Given the description of an element on the screen output the (x, y) to click on. 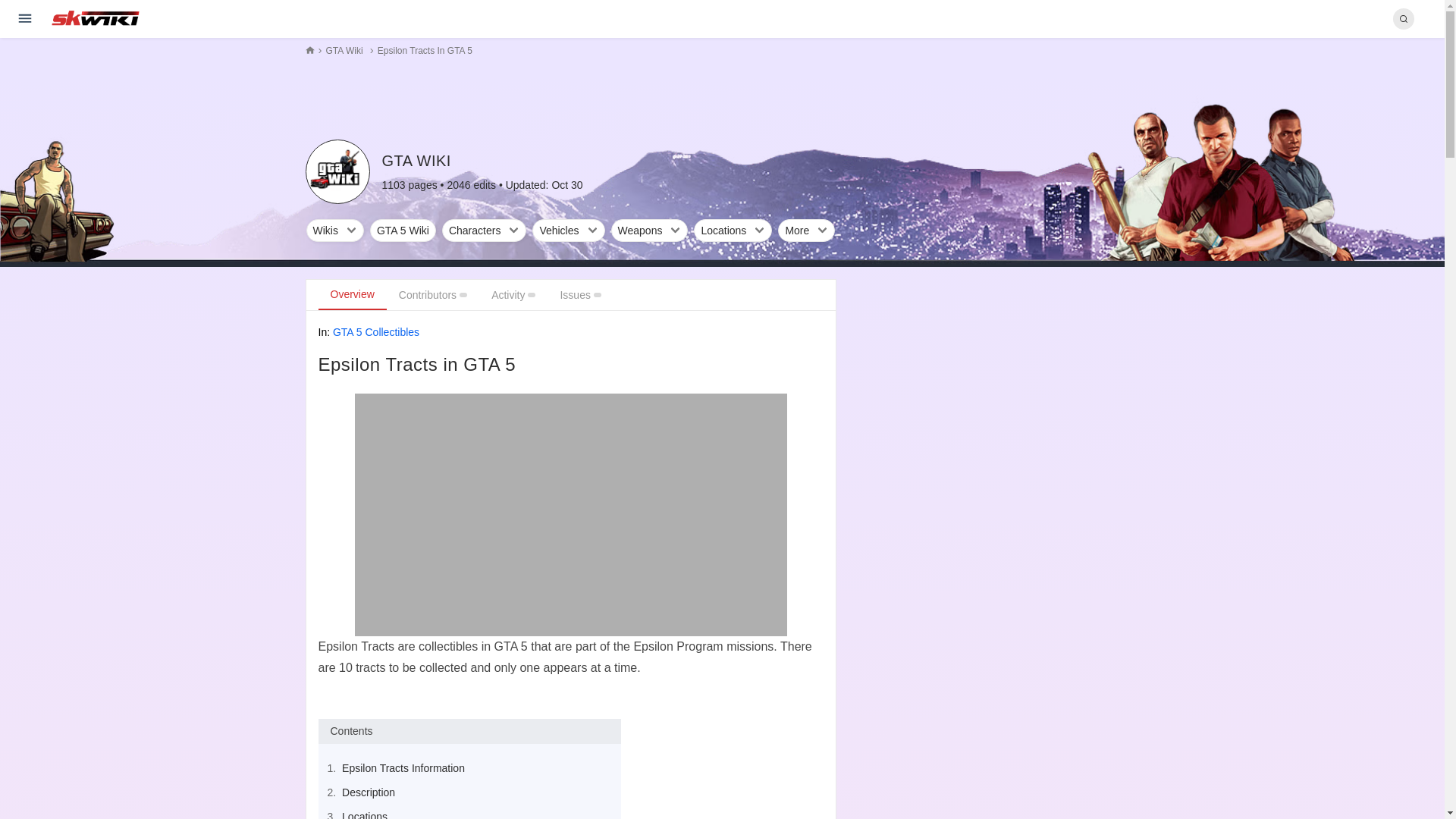
Sportskeeda Wiki (95, 18)
Search (1403, 18)
Sportskeeda Home (95, 18)
GTA Wiki (336, 171)
